Given the description of an element on the screen output the (x, y) to click on. 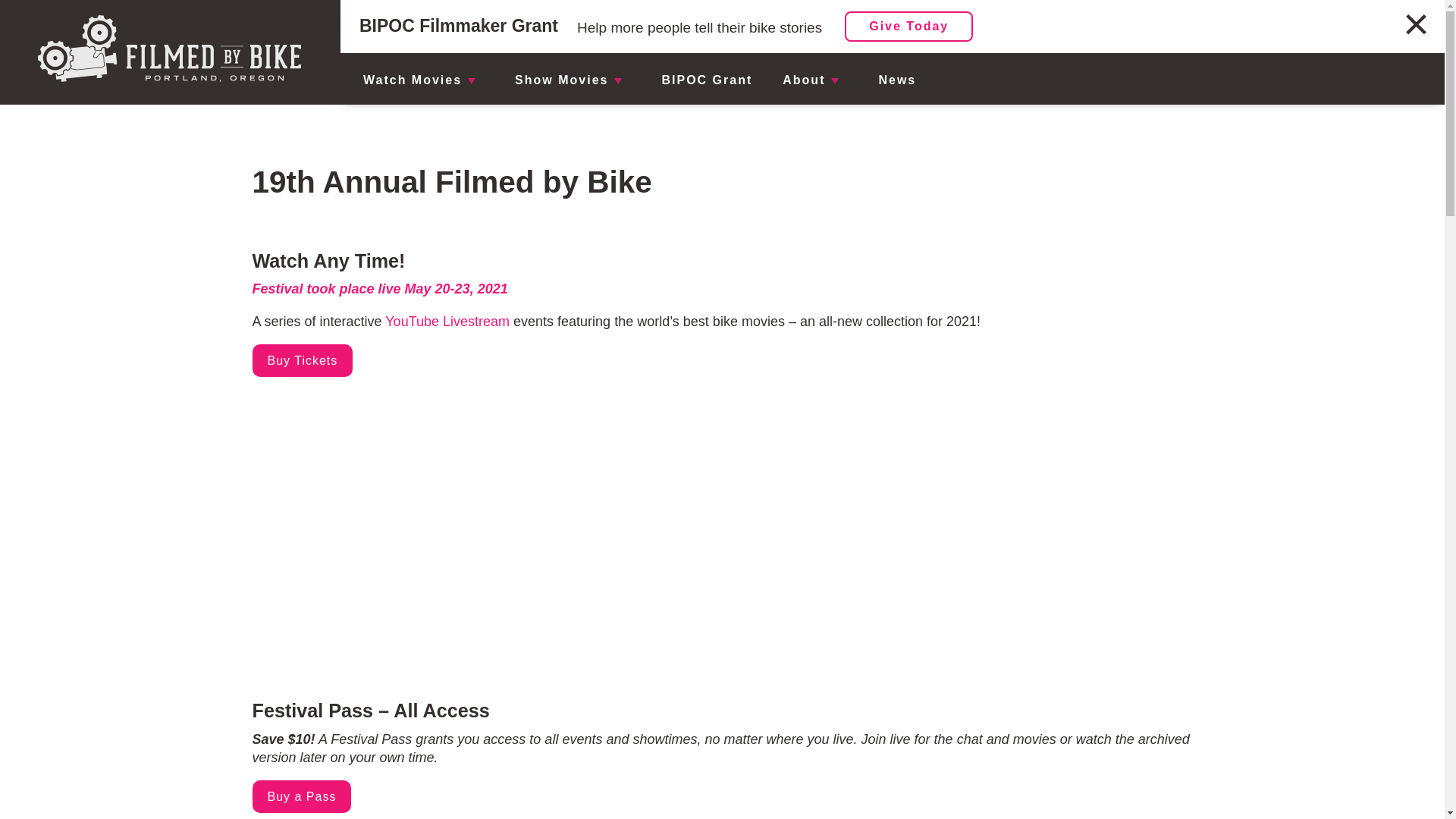
Buy Tickets (301, 359)
How it Works (635, 15)
Show Movies (561, 80)
Watch the Trailers (635, 49)
Background (903, 85)
Watch Movies (411, 80)
Give Today (908, 26)
Book Your Show (635, 85)
Buy a Pass (300, 796)
